Given the description of an element on the screen output the (x, y) to click on. 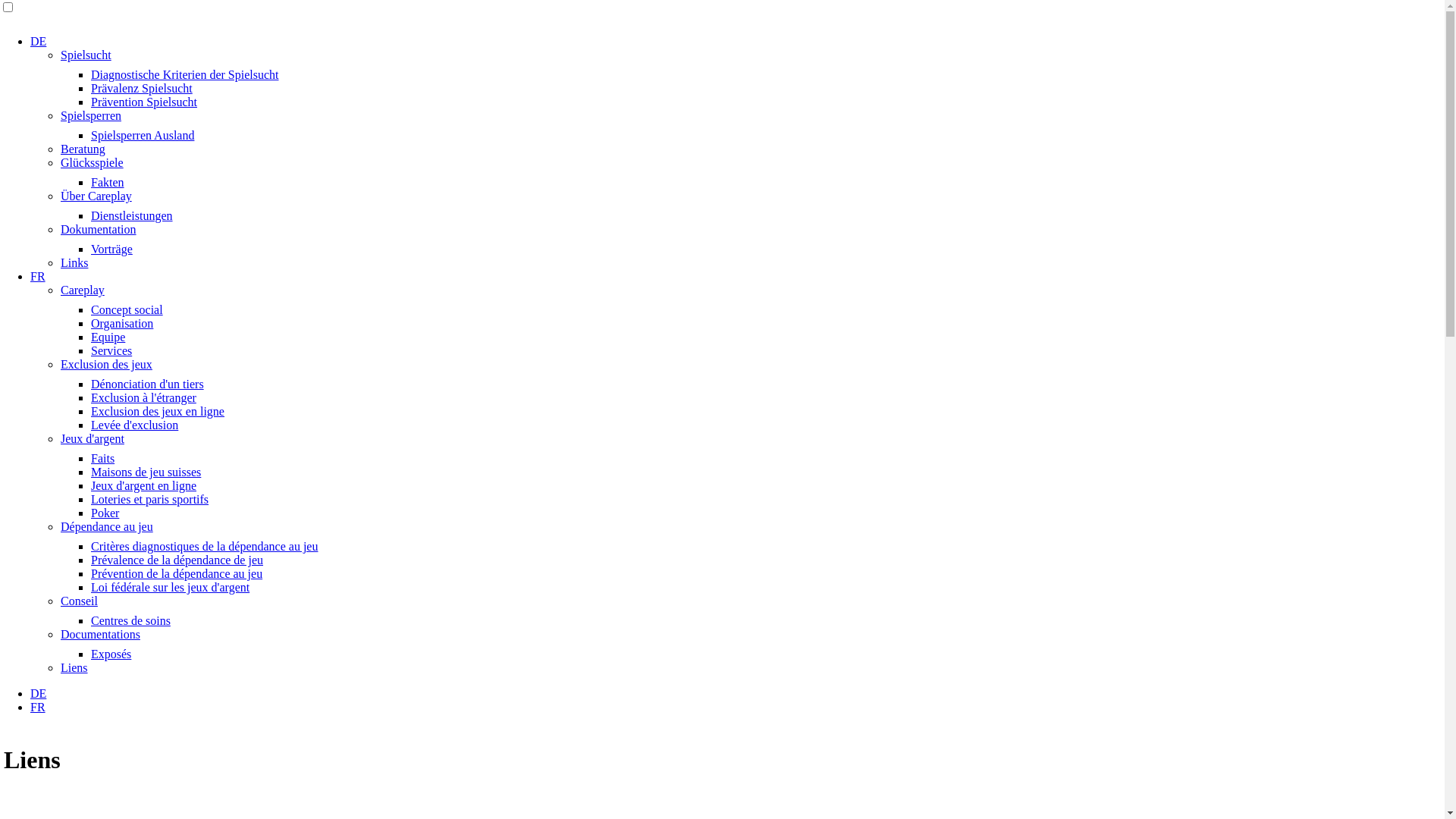
Conseil Element type: text (78, 600)
Spielsucht Element type: text (85, 54)
Equipe Element type: text (108, 336)
Faits Element type: text (102, 457)
Liens Element type: text (73, 667)
Fakten Element type: text (107, 181)
Dokumentation Element type: text (98, 228)
Spielsperren Element type: text (90, 115)
Loteries et paris sportifs Element type: text (149, 498)
Centres de soins Element type: text (130, 620)
Jeux d'argent en ligne Element type: text (143, 485)
Diagnostische Kriterien der Spielsucht Element type: text (185, 74)
DE Element type: text (38, 693)
Exclusion des jeux en ligne Element type: text (157, 410)
FR Element type: text (37, 706)
DE Element type: text (38, 40)
Dienstleistungen Element type: text (131, 215)
Poker Element type: text (105, 512)
Concept social Element type: text (127, 309)
Maisons de jeu suisses Element type: text (145, 471)
Documentations Element type: text (100, 633)
Beratung Element type: text (82, 148)
Organisation Element type: text (122, 322)
Services Element type: text (111, 350)
Links Element type: text (73, 262)
Careplay Element type: text (82, 289)
FR Element type: text (37, 275)
Exclusion des jeux Element type: text (106, 363)
Jeux d'argent Element type: text (92, 438)
Spielsperren Ausland Element type: text (142, 134)
